Given the description of an element on the screen output the (x, y) to click on. 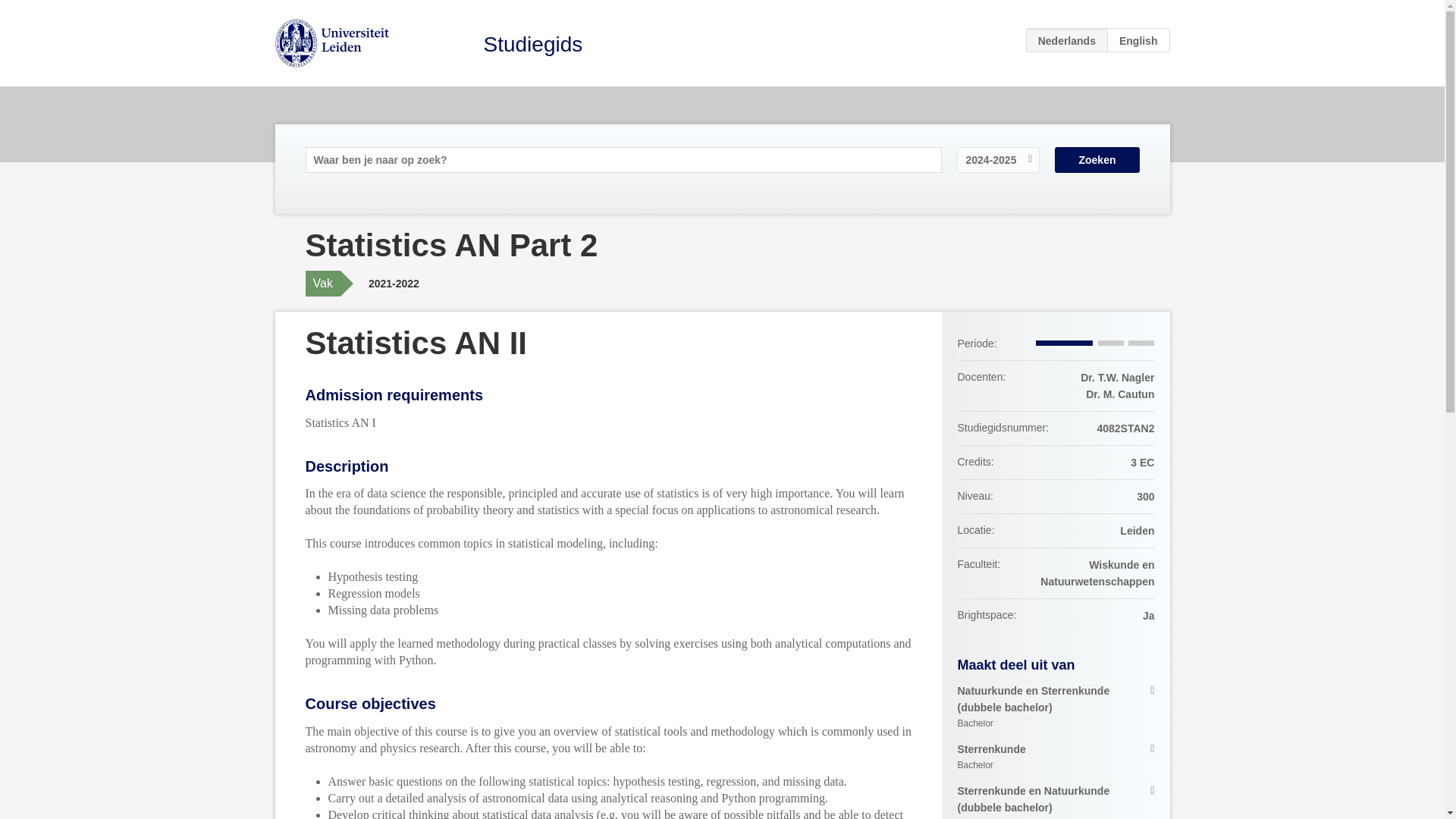
EN (1055, 757)
Zoeken (1138, 39)
Studiegids (1096, 159)
